Given the description of an element on the screen output the (x, y) to click on. 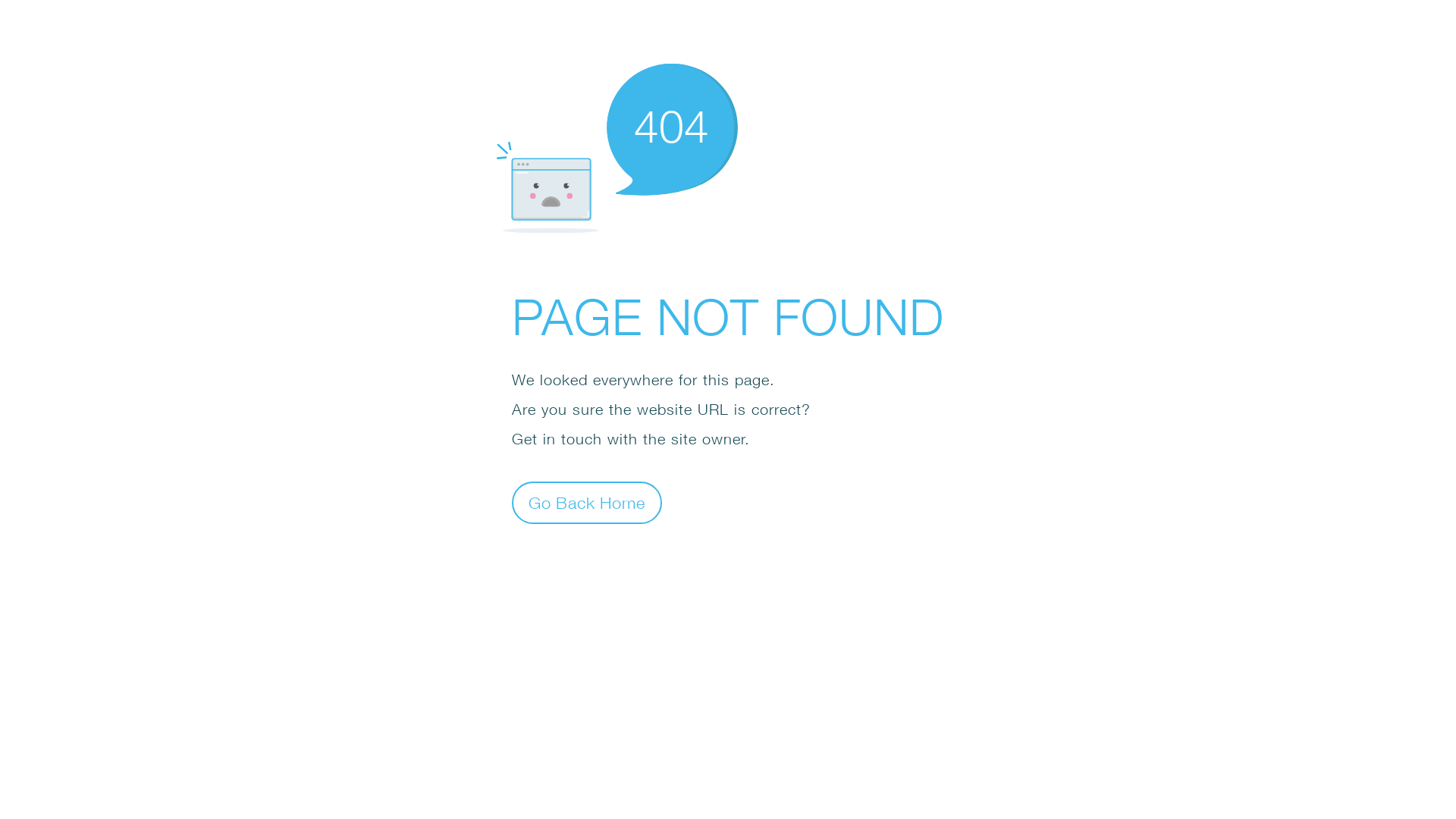
Go Back Home Element type: text (586, 502)
